Given the description of an element on the screen output the (x, y) to click on. 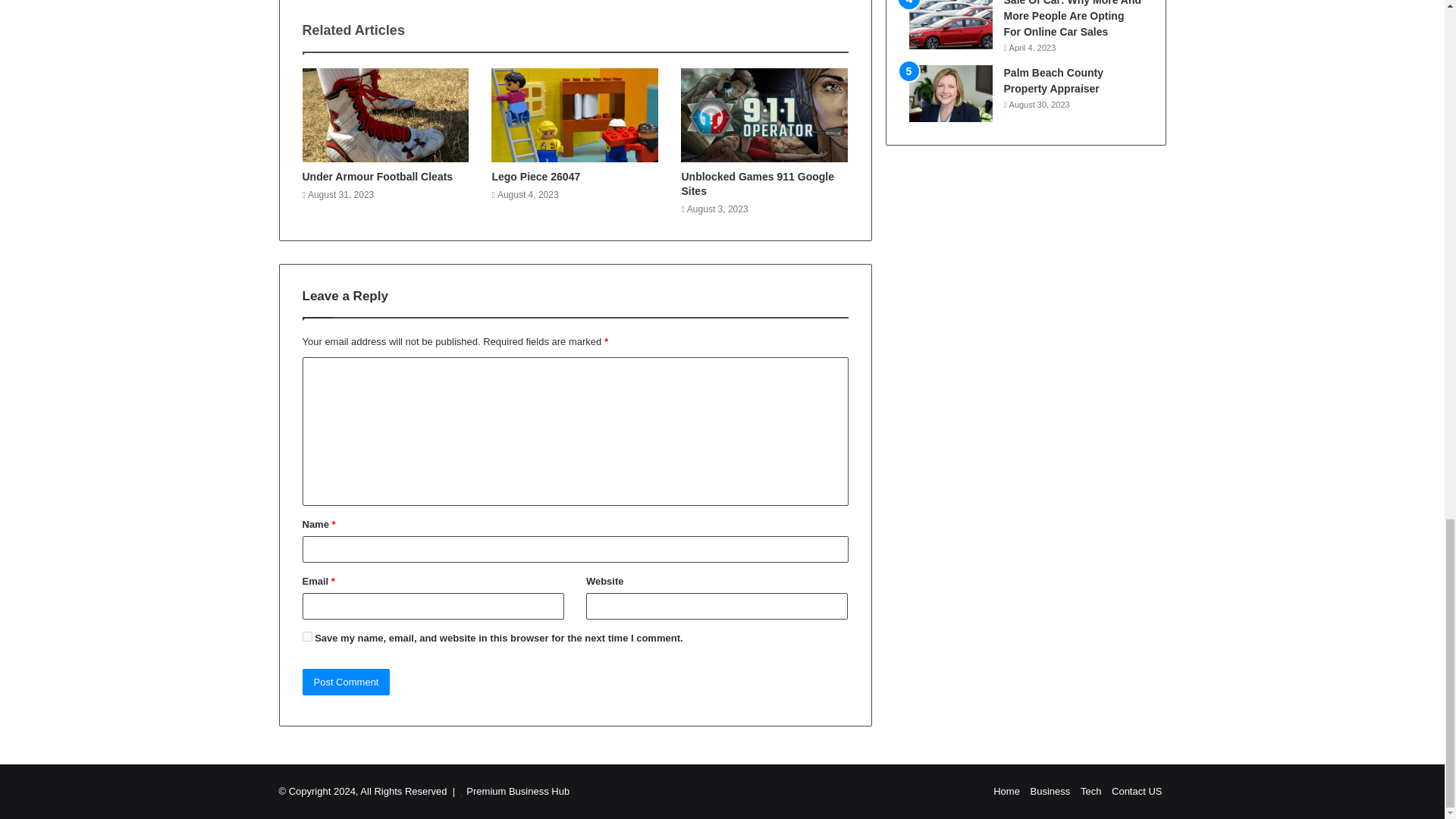
Post Comment (345, 682)
yes (306, 636)
